Given the description of an element on the screen output the (x, y) to click on. 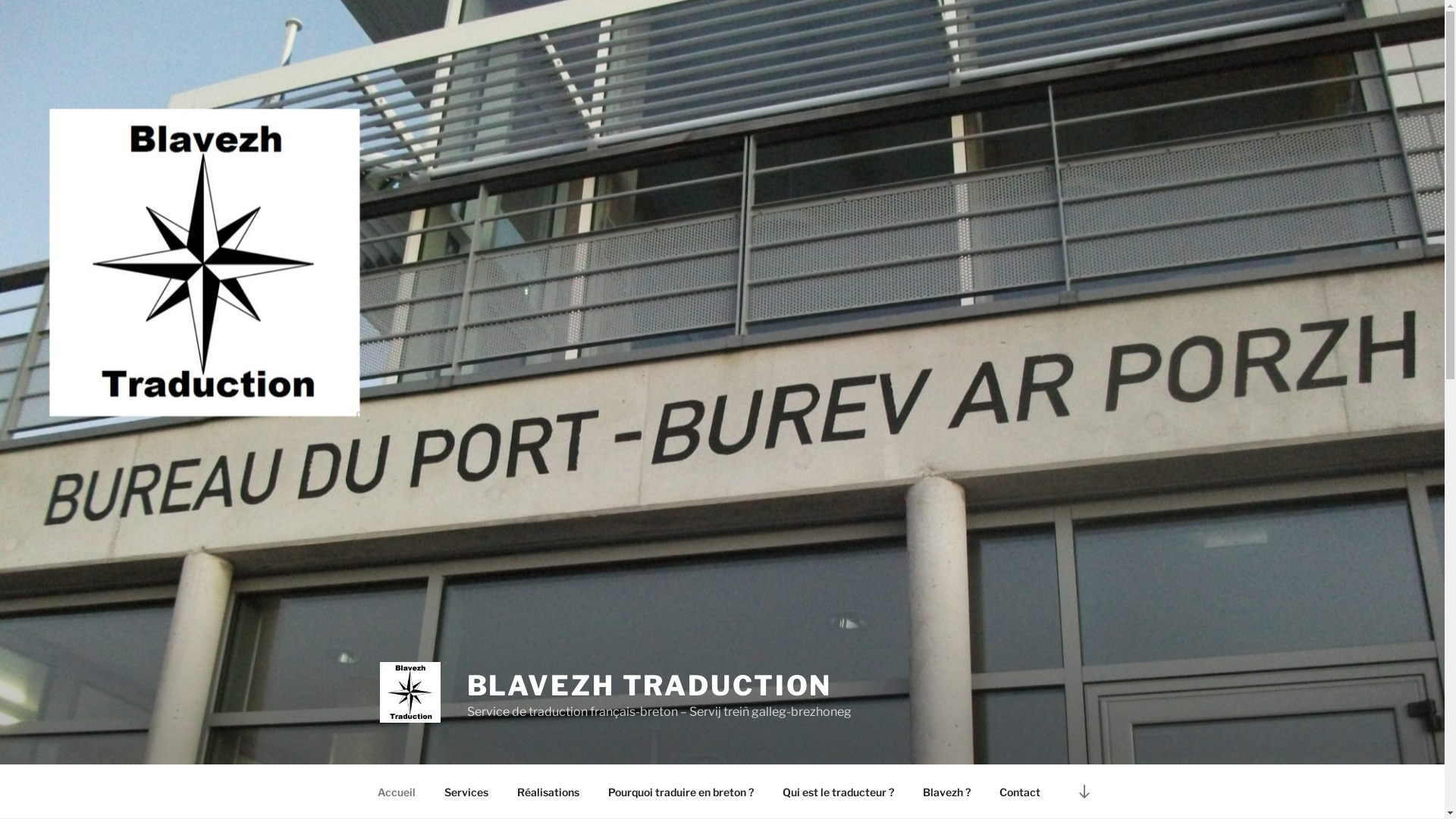
Contact Element type: text (1019, 791)
Qui est le traducteur ? Element type: text (837, 791)
Aller au contenu principal Element type: text (0, 0)
Services Element type: text (465, 791)
BLAVEZH TRADUCTION Element type: text (649, 685)
Blavezh ? Element type: text (947, 791)
Accueil Element type: text (396, 791)
Descendre au contenu Element type: text (1083, 790)
Pourquoi traduire en breton ? Element type: text (680, 791)
